Given the description of an element on the screen output the (x, y) to click on. 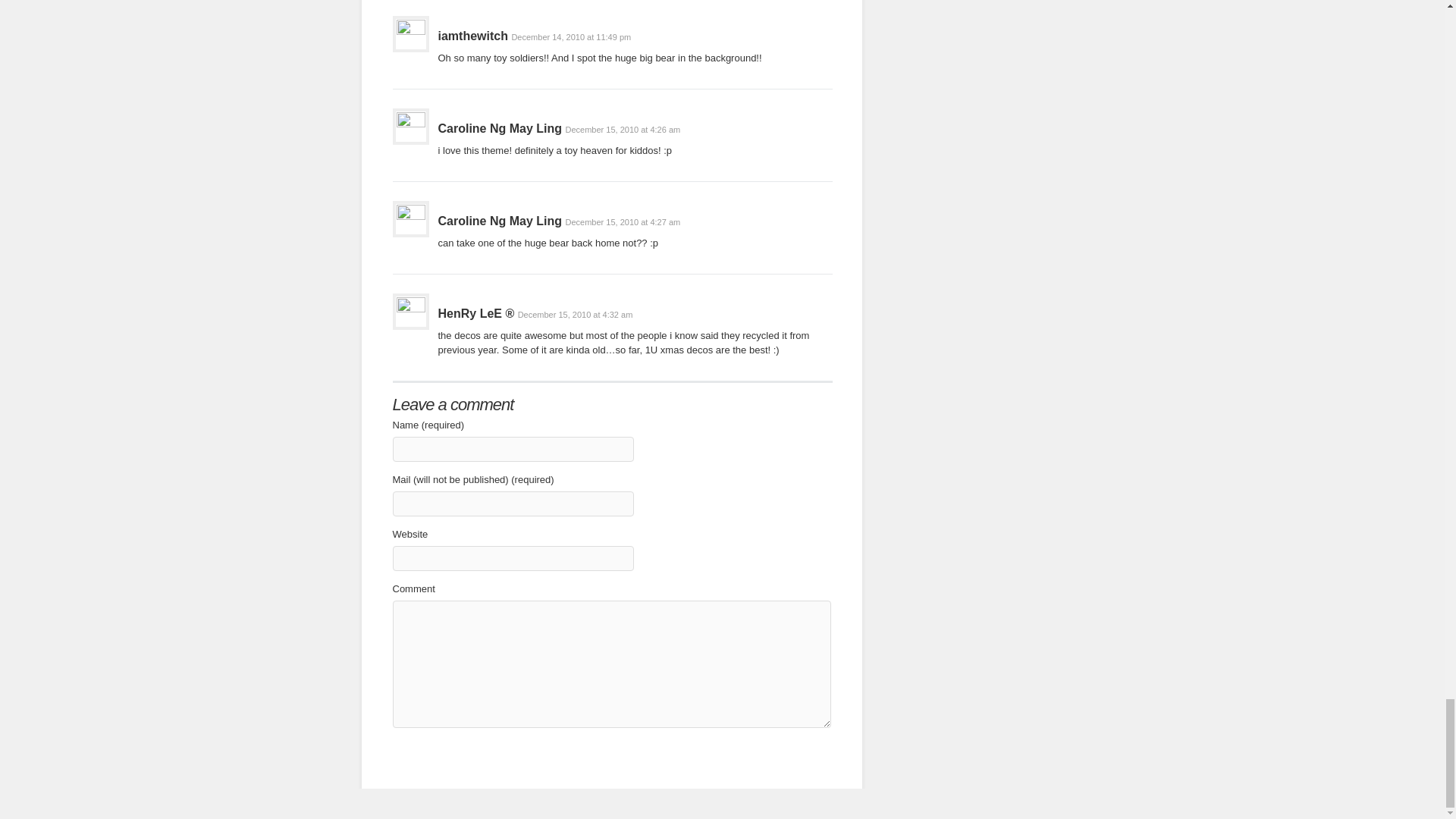
POST COMMENT (449, 753)
